Given the description of an element on the screen output the (x, y) to click on. 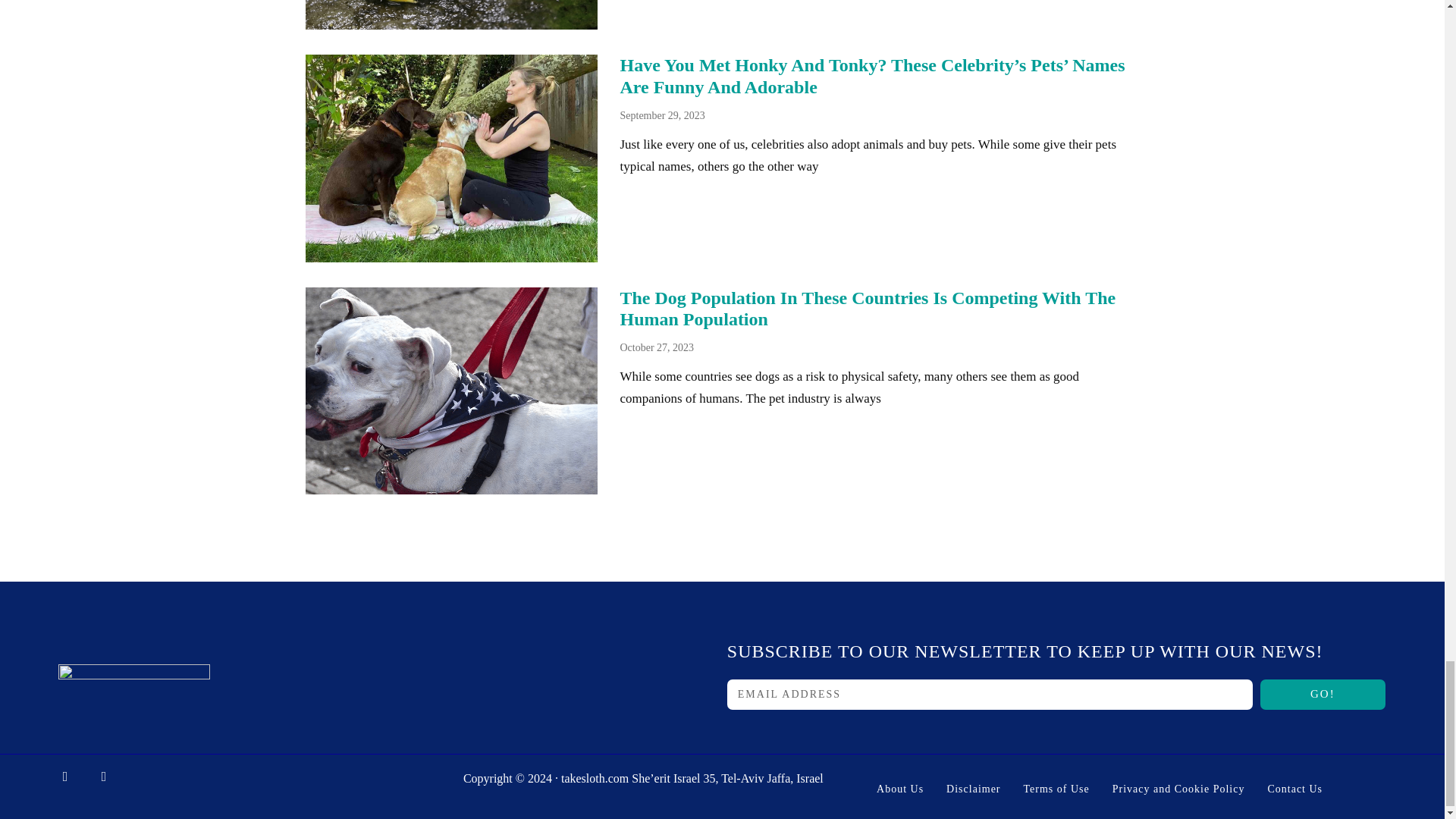
Terms of Use (1056, 789)
About Us (899, 789)
Disclaimer (973, 789)
Privacy and Cookie Policy (1178, 789)
GO! (1323, 694)
